Given the description of an element on the screen output the (x, y) to click on. 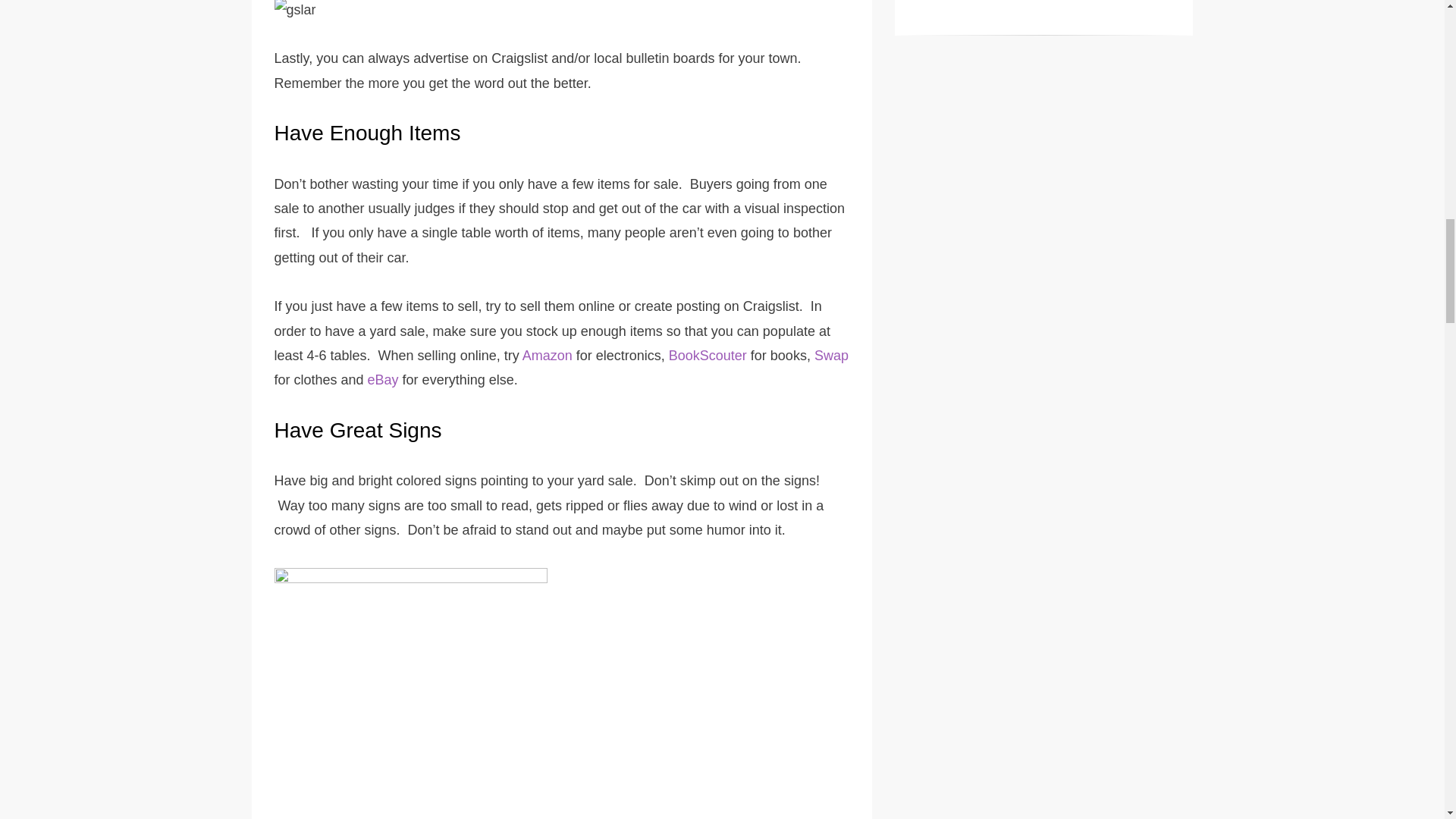
BookScouter (707, 355)
eBay (383, 379)
Amazon (547, 355)
Swap (830, 355)
